Given the description of an element on the screen output the (x, y) to click on. 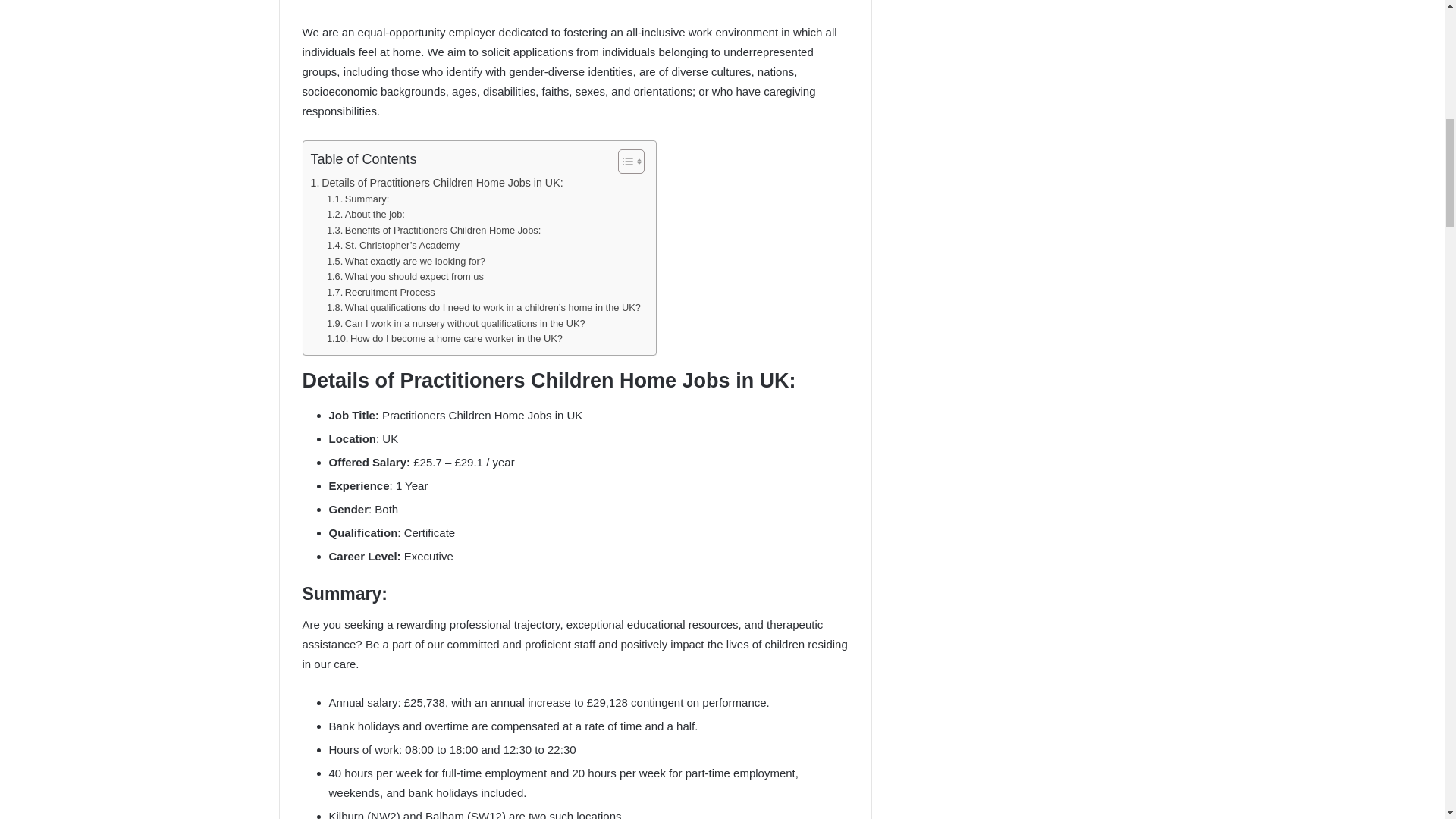
Summary: (357, 199)
What you should expect from us (404, 277)
Recruitment Process (380, 293)
About the job: (365, 214)
About the job: (365, 214)
Summary: (357, 199)
Recruitment Process (380, 293)
What you should expect from us (404, 277)
Can I work in a nursery without qualifications in the UK? (455, 324)
Benefits of Practitioners Children Home Jobs: (433, 230)
Details of Practitioners Children Home Jobs in UK: (437, 182)
What exactly are we looking for? (405, 261)
What exactly are we looking for? (405, 261)
Details of Practitioners Children Home Jobs in UK: (437, 182)
How do I become a home care worker in the UK? (444, 339)
